Given the description of an element on the screen output the (x, y) to click on. 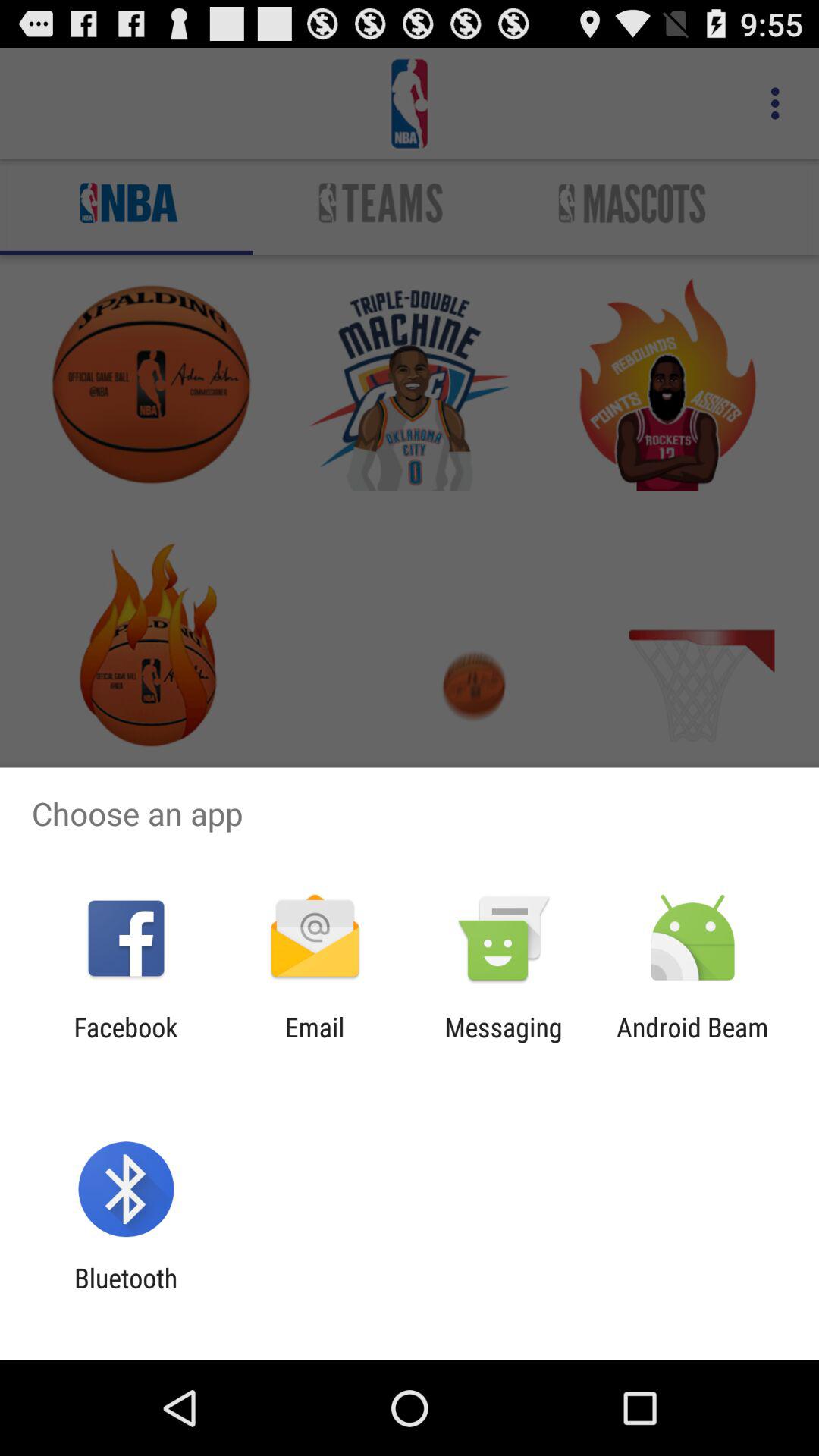
choose item to the right of facebook icon (314, 1042)
